Given the description of an element on the screen output the (x, y) to click on. 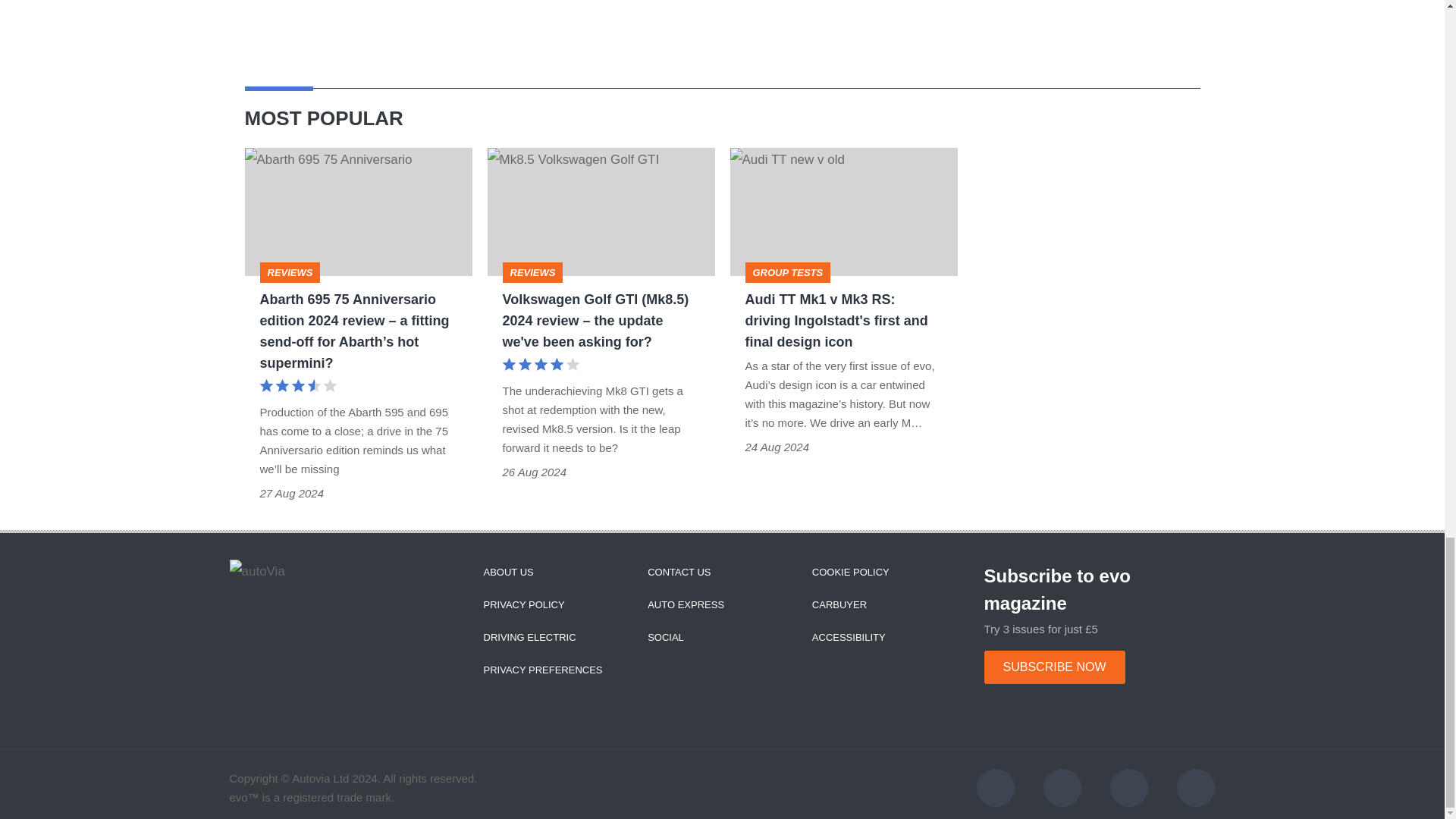
Subscribe now (1054, 666)
4 Stars (540, 366)
3.5 Stars (297, 387)
